Given the description of an element on the screen output the (x, y) to click on. 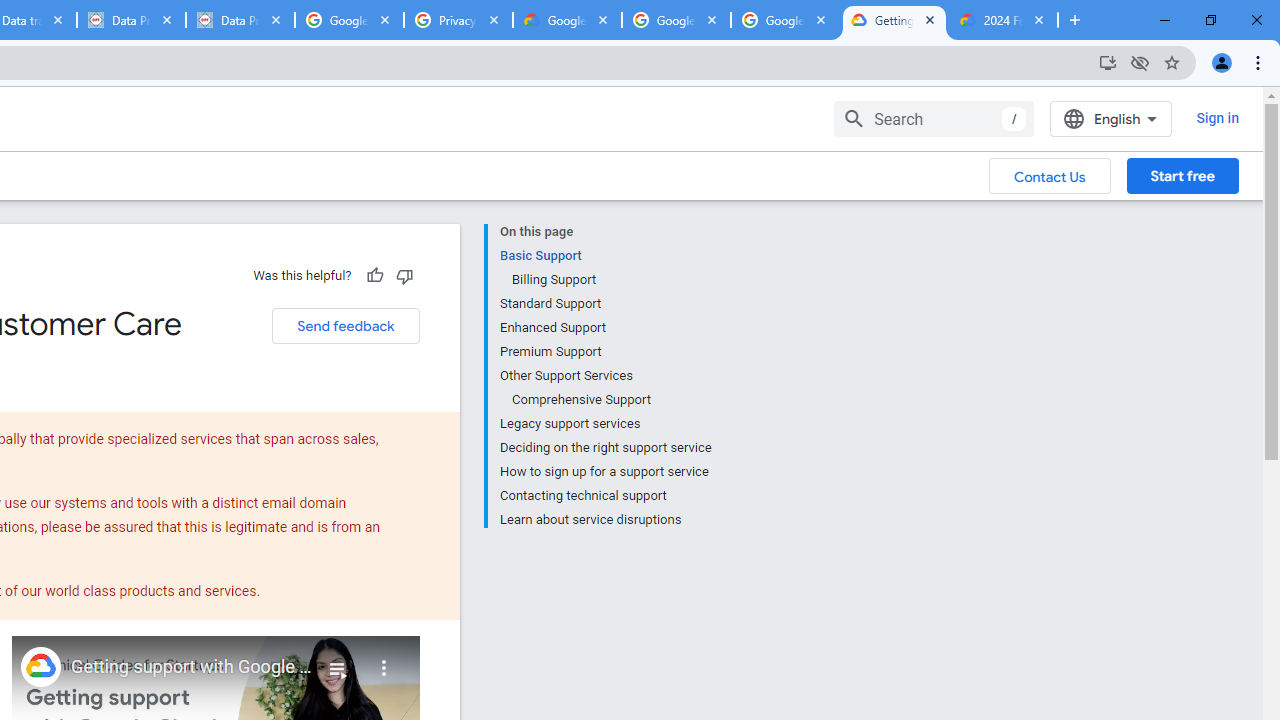
Learn about service disruptions (605, 517)
Start free (1182, 175)
Install Google Cloud (1107, 62)
Google Cloud Terms Directory | Google Cloud (567, 20)
Google Workspace - Specific Terms (784, 20)
Basic Support (605, 255)
Other Support Services (605, 376)
Photo image of Google Cloud Tech (40, 665)
Standard Support (605, 304)
Contact Us (1050, 175)
How to sign up for a support service (605, 471)
